Given the description of an element on the screen output the (x, y) to click on. 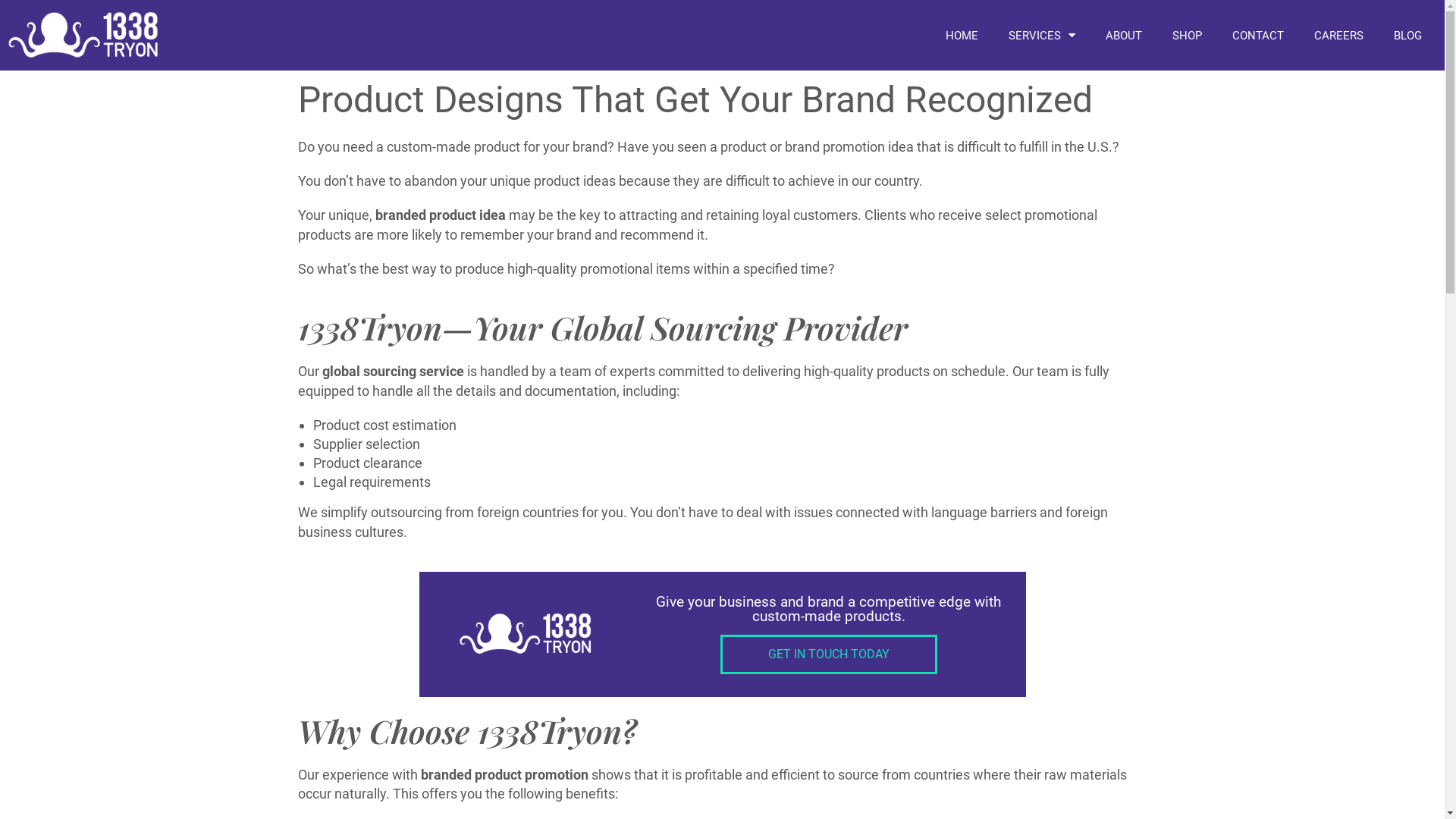
HOME Element type: text (961, 35)
BLOG Element type: text (1407, 35)
SHOP Element type: text (1187, 35)
SERVICES Element type: text (1041, 35)
CONTACT Element type: text (1258, 35)
ABOUT Element type: text (1123, 35)
CAREERS Element type: text (1338, 35)
GET IN TOUCH TODAY Element type: text (828, 654)
